Given the description of an element on the screen output the (x, y) to click on. 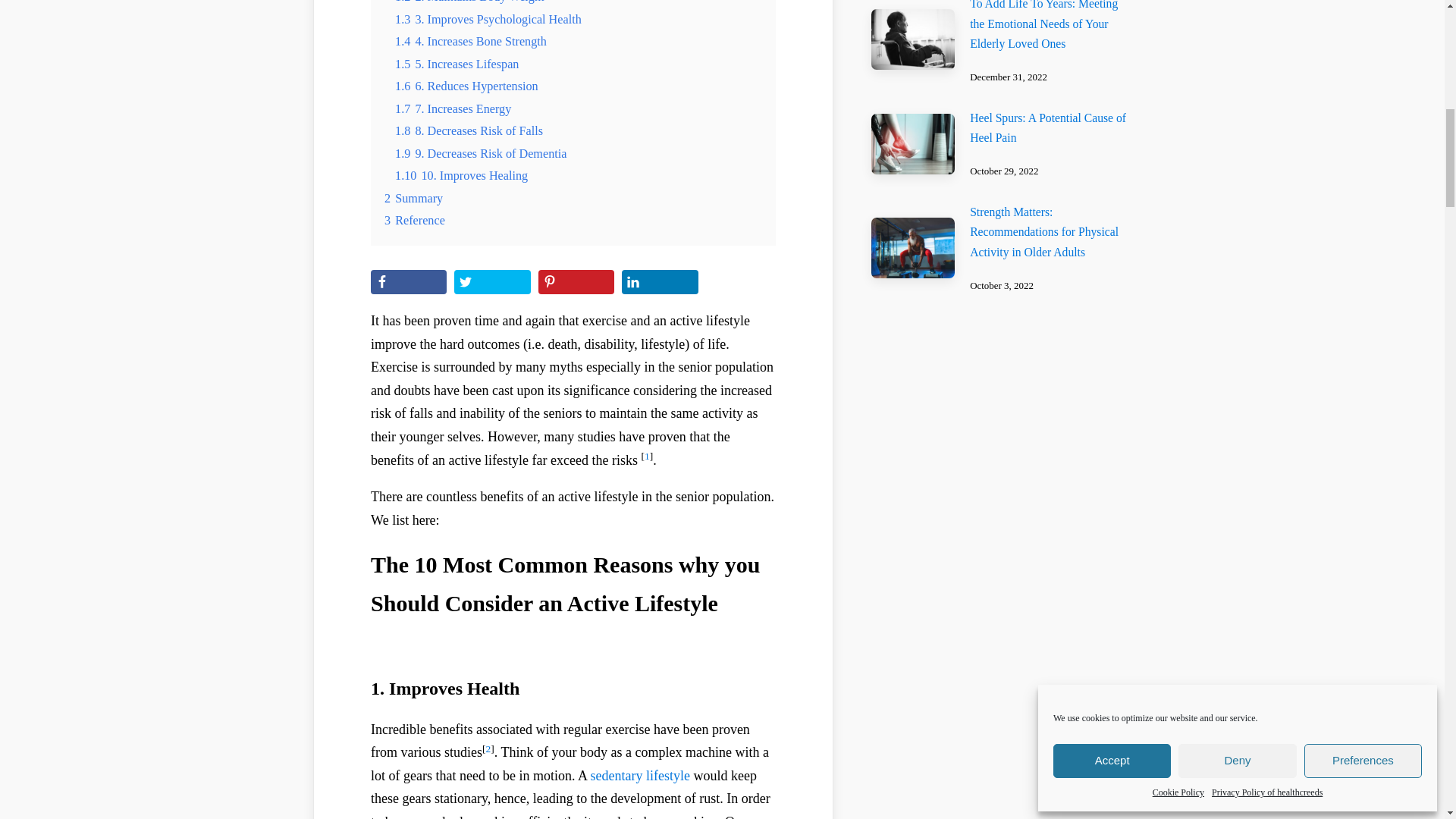
Share on Pinterest (576, 282)
Share on Twitter (491, 282)
Share on Facebook (408, 282)
Share on LinkedIn (659, 282)
